Given the description of an element on the screen output the (x, y) to click on. 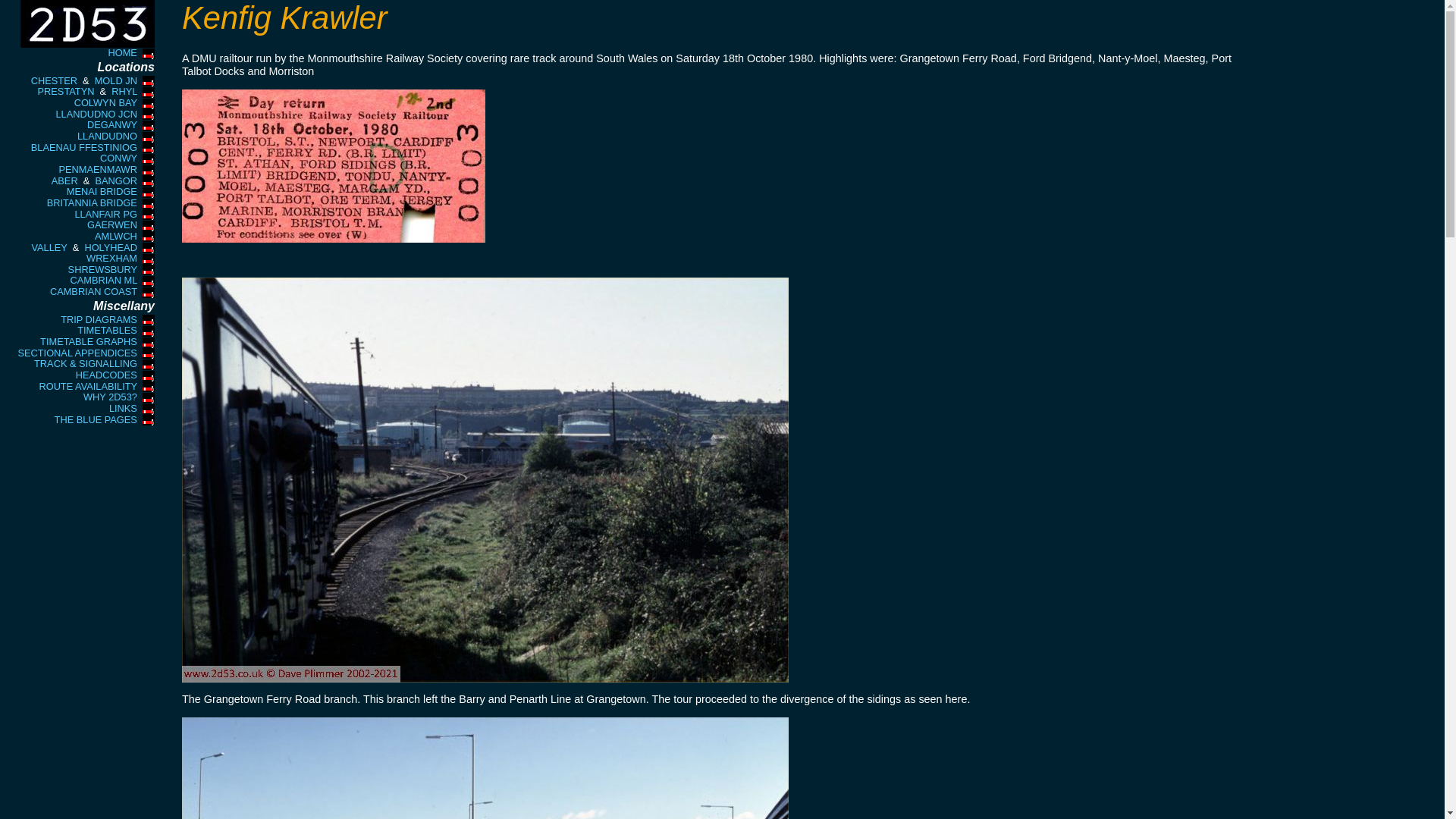
SECTIONAL APPENDICES (76, 352)
CHESTER (53, 80)
GAERWEN (111, 224)
AMLWCH (115, 235)
TIMETABLE GRAPHS (88, 341)
CAMBRIAN COAST (92, 291)
HOME (121, 52)
TIMETABLES (106, 329)
MENAI BRIDGE (101, 191)
CAMBRIAN ML (102, 279)
